Given the description of an element on the screen output the (x, y) to click on. 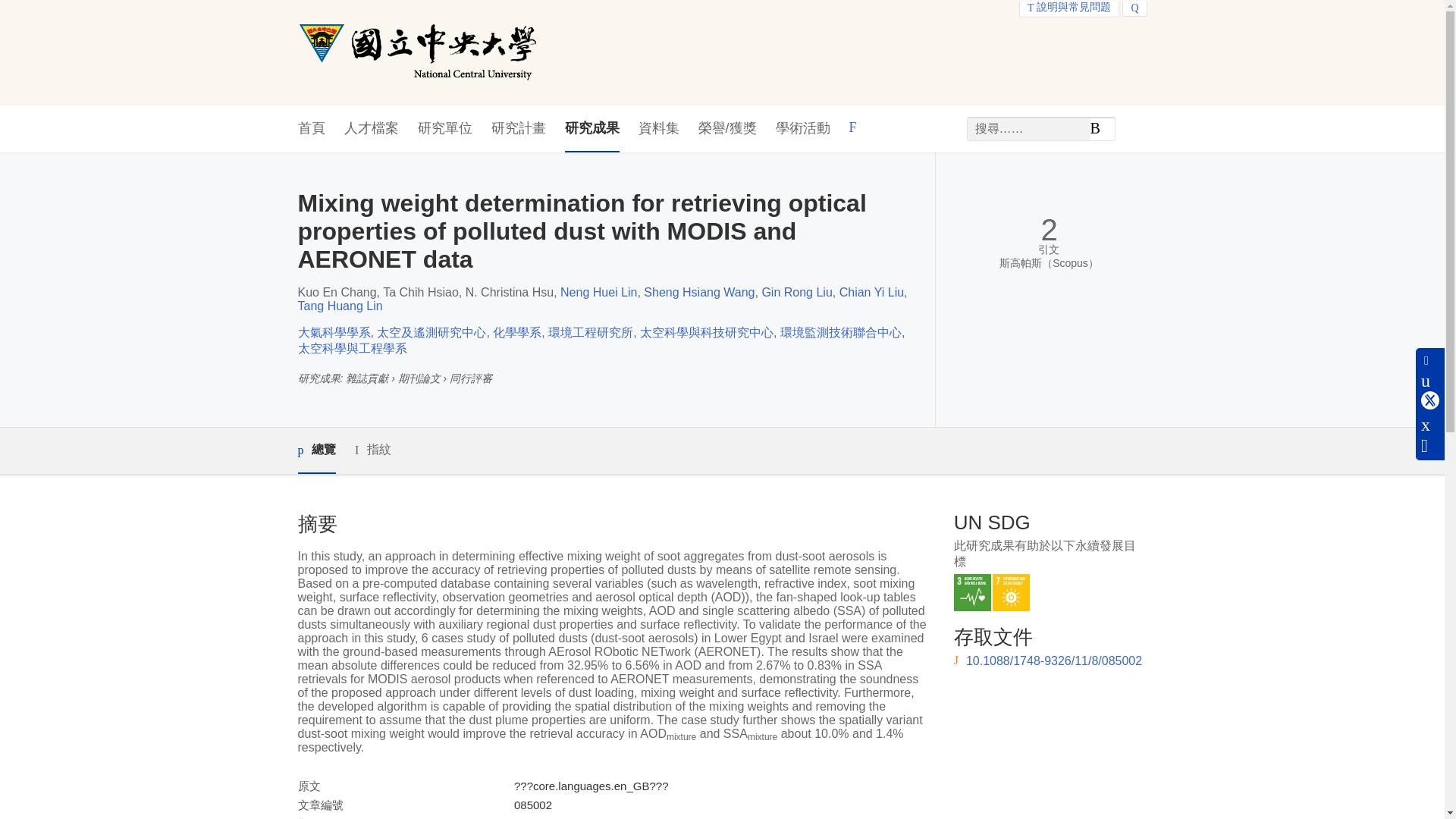
Gin Rong Liu (796, 291)
Sheng Hsiang Wang (698, 291)
Neng Huei Lin (598, 291)
Chian Yi Liu (872, 291)
Tang Huang Lin (339, 305)
